Given the description of an element on the screen output the (x, y) to click on. 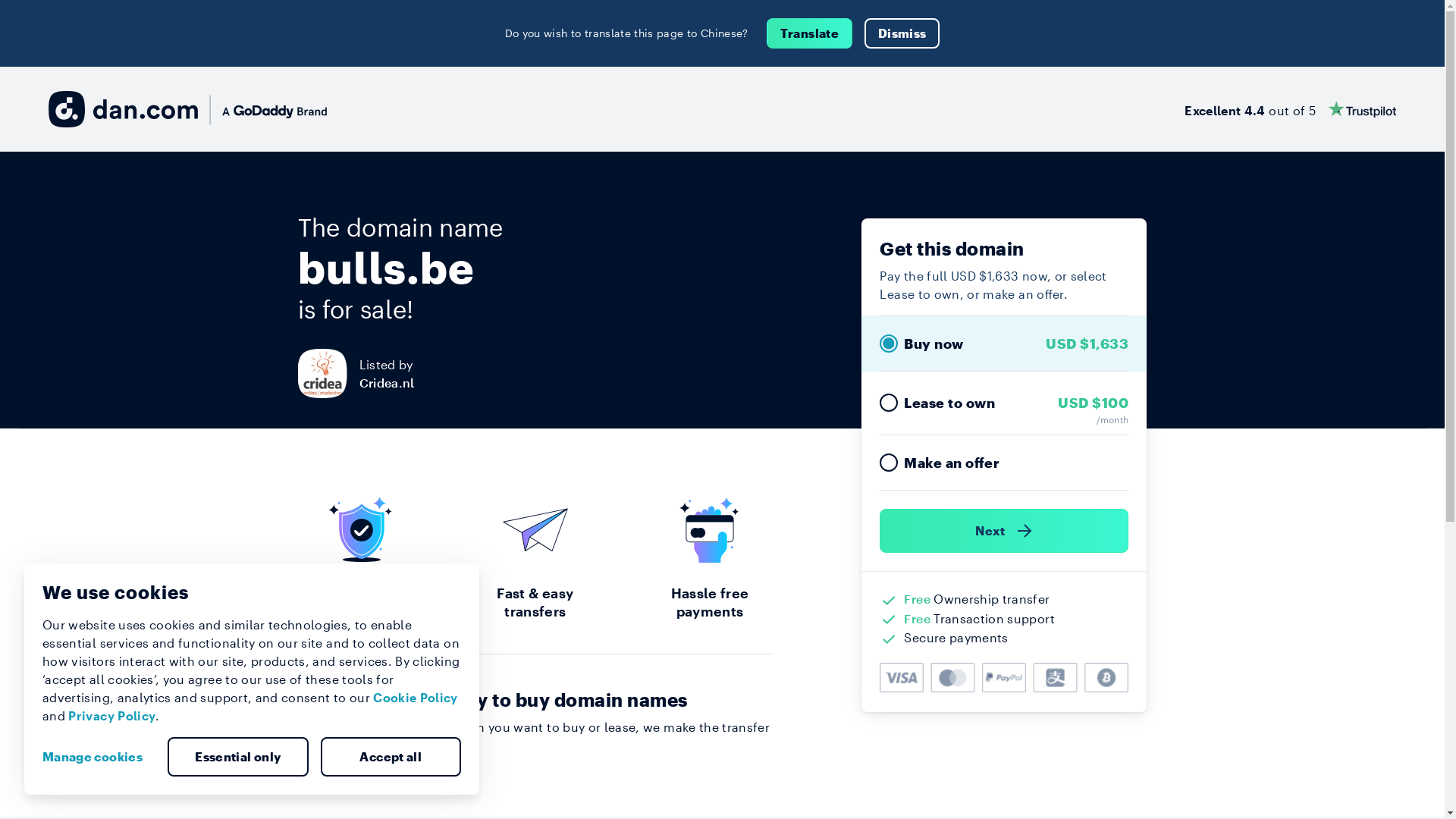
Dismiss Element type: text (901, 33)
Cookie Policy Element type: text (415, 697)
Translate Element type: text (809, 33)
Next
) Element type: text (1003, 530)
Manage cookies Element type: text (98, 756)
Essential only Element type: text (237, 756)
Privacy Policy Element type: text (111, 715)
Accept all Element type: text (390, 756)
Excellent 4.4 out of 5 Element type: text (1290, 109)
